Given the description of an element on the screen output the (x, y) to click on. 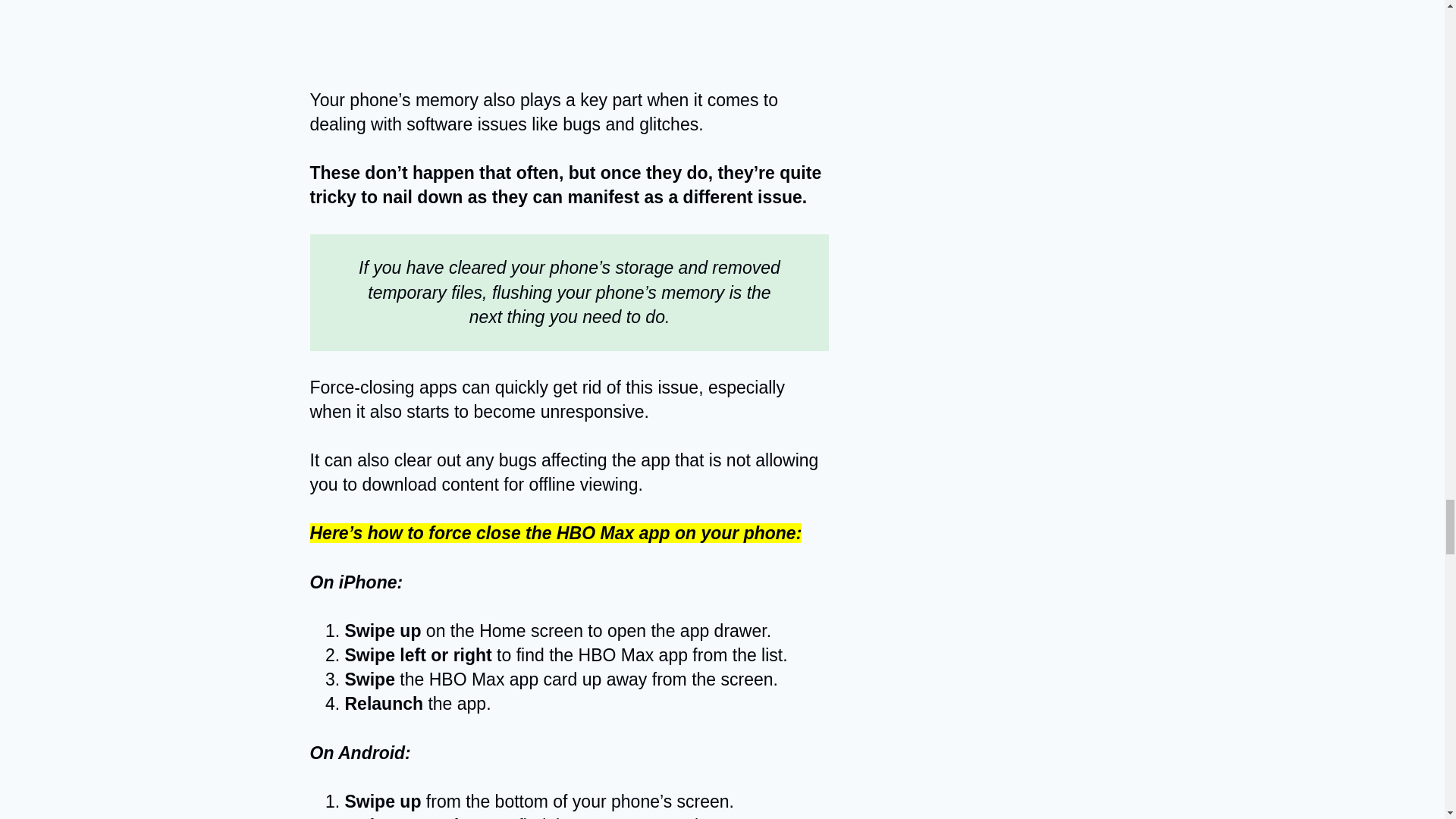
HBO Max Downloads Not Working Offline? - Easy Fix 7 (568, 31)
